Given the description of an element on the screen output the (x, y) to click on. 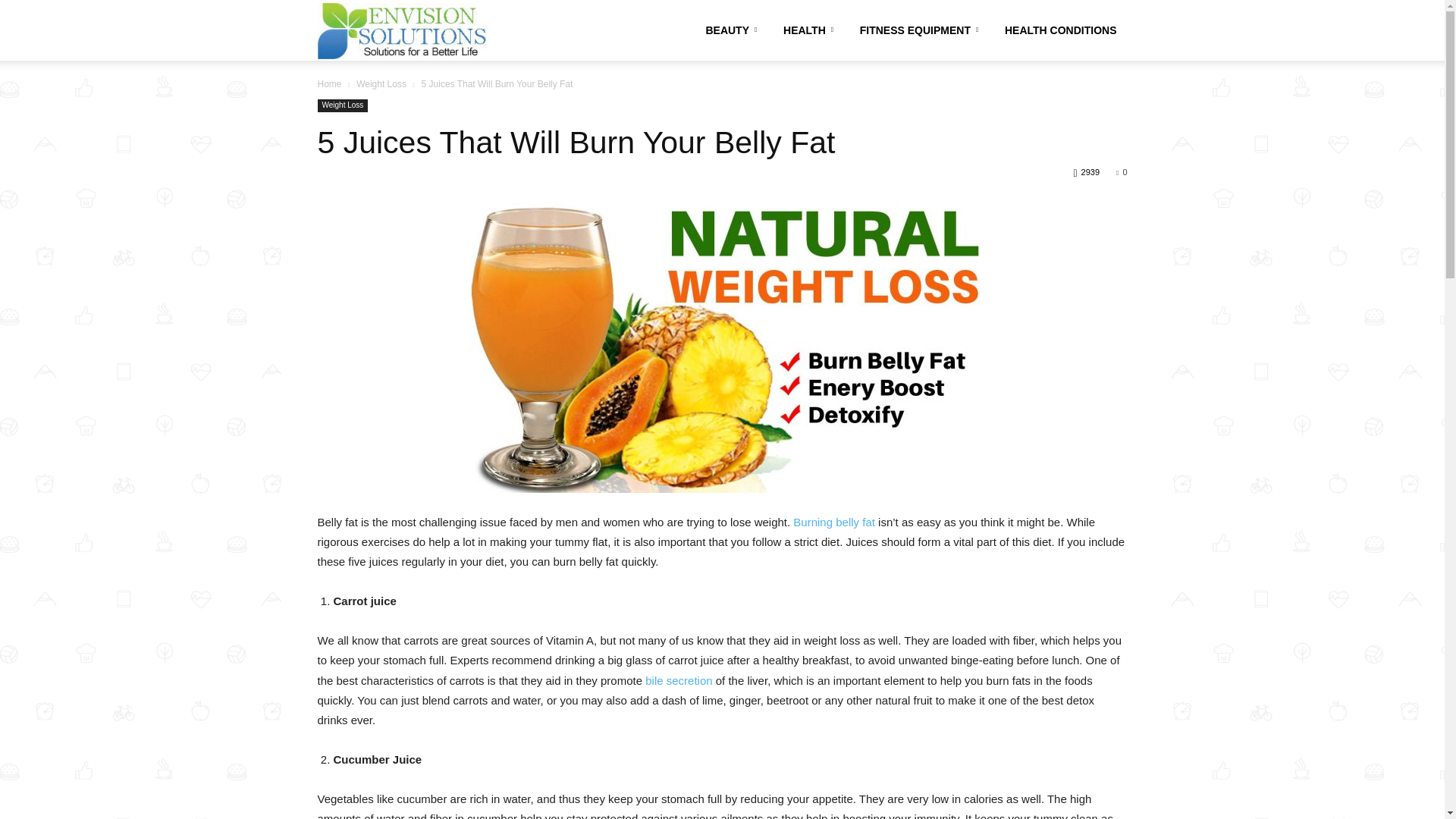
View all posts in Weight Loss (381, 83)
